Given the description of an element on the screen output the (x, y) to click on. 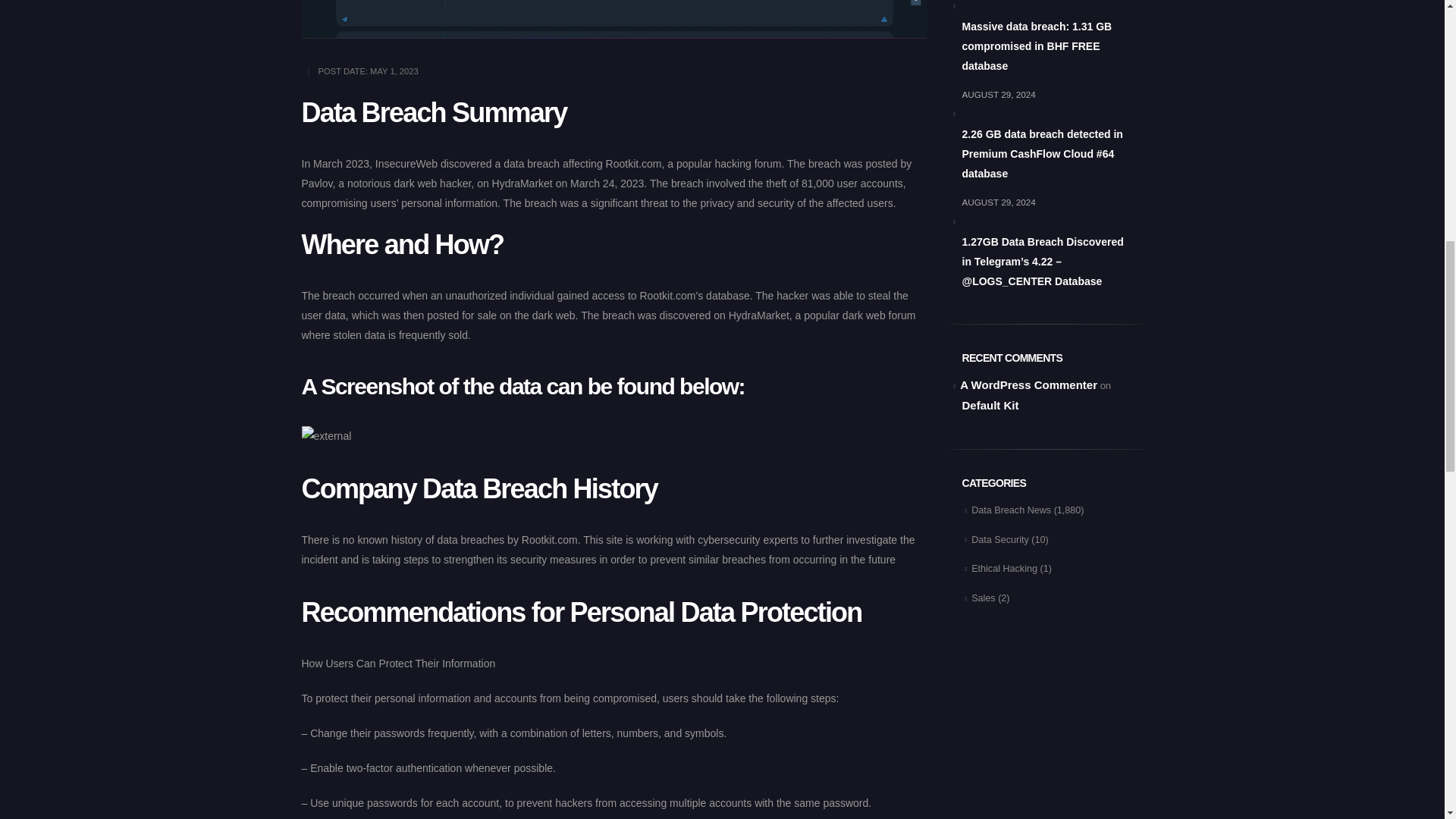
Data Breach News (1011, 510)
Ethical Hacking (1003, 568)
Default Kit (988, 404)
Sales (983, 597)
Data Security (1000, 539)
A WordPress Commenter (1028, 384)
